Given the description of an element on the screen output the (x, y) to click on. 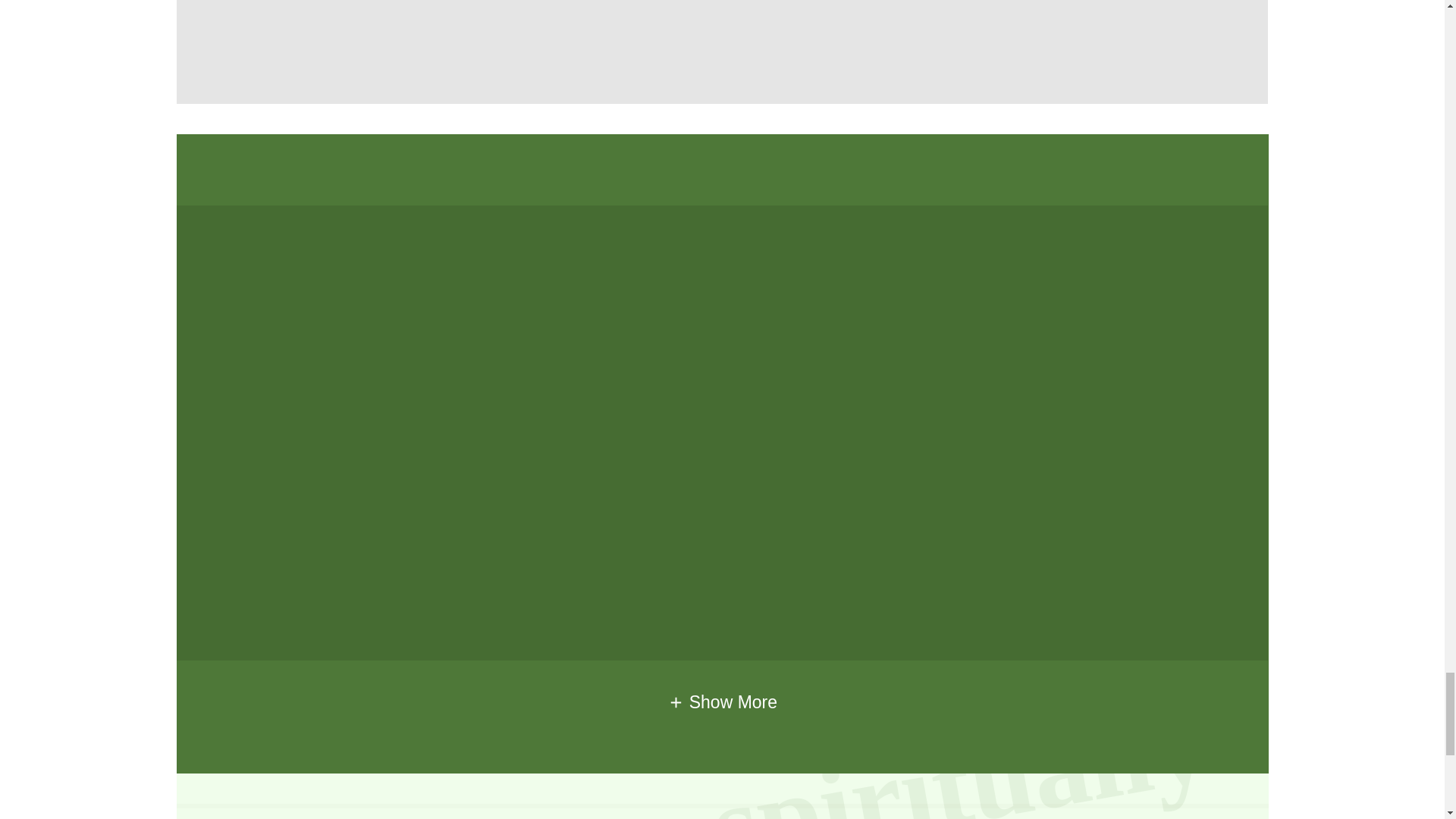
Show More (721, 701)
